Given the description of an element on the screen output the (x, y) to click on. 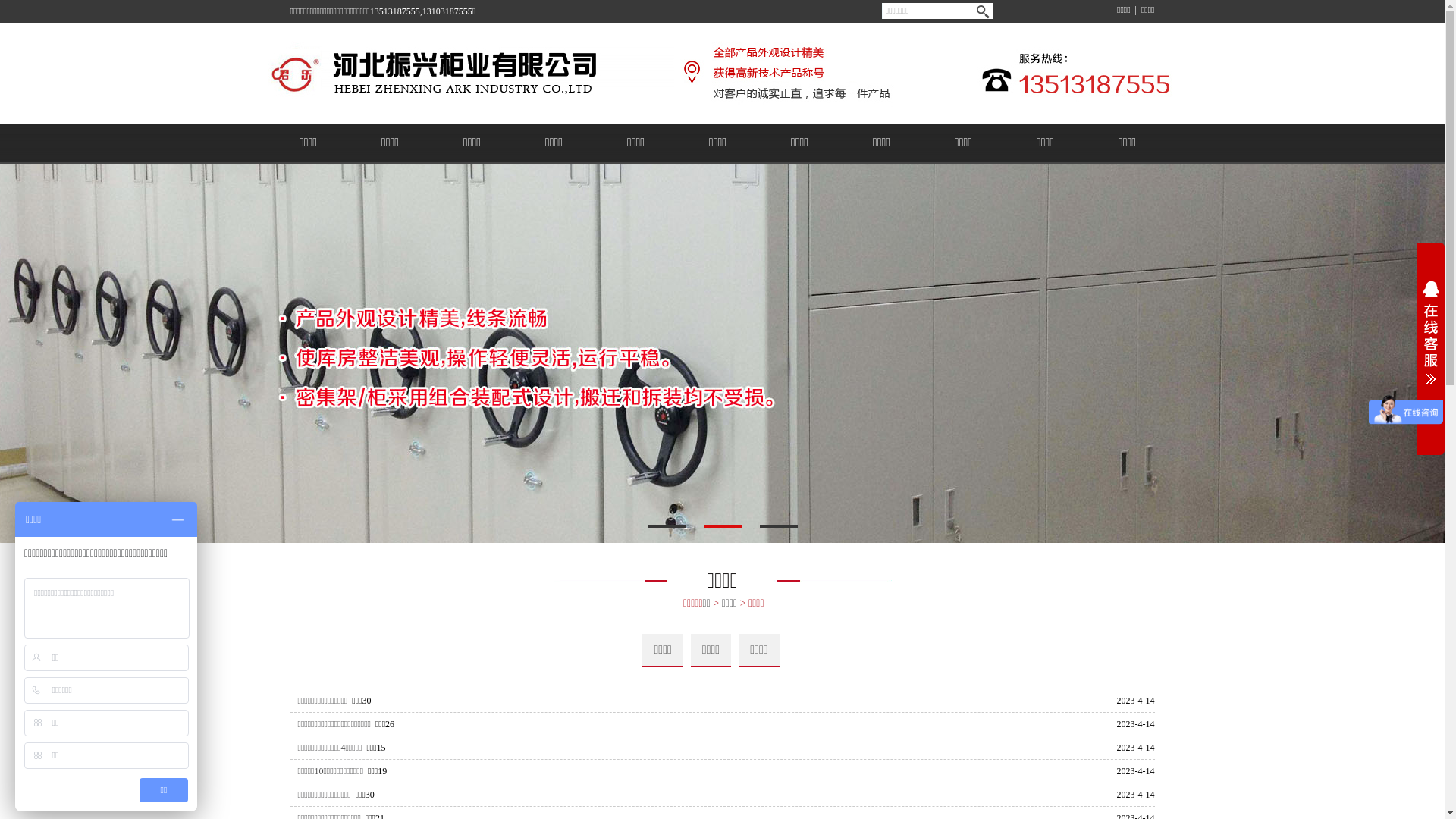
2 Element type: text (722, 525)
3 Element type: text (778, 525)
1 Element type: text (666, 525)
